Given the description of an element on the screen output the (x, y) to click on. 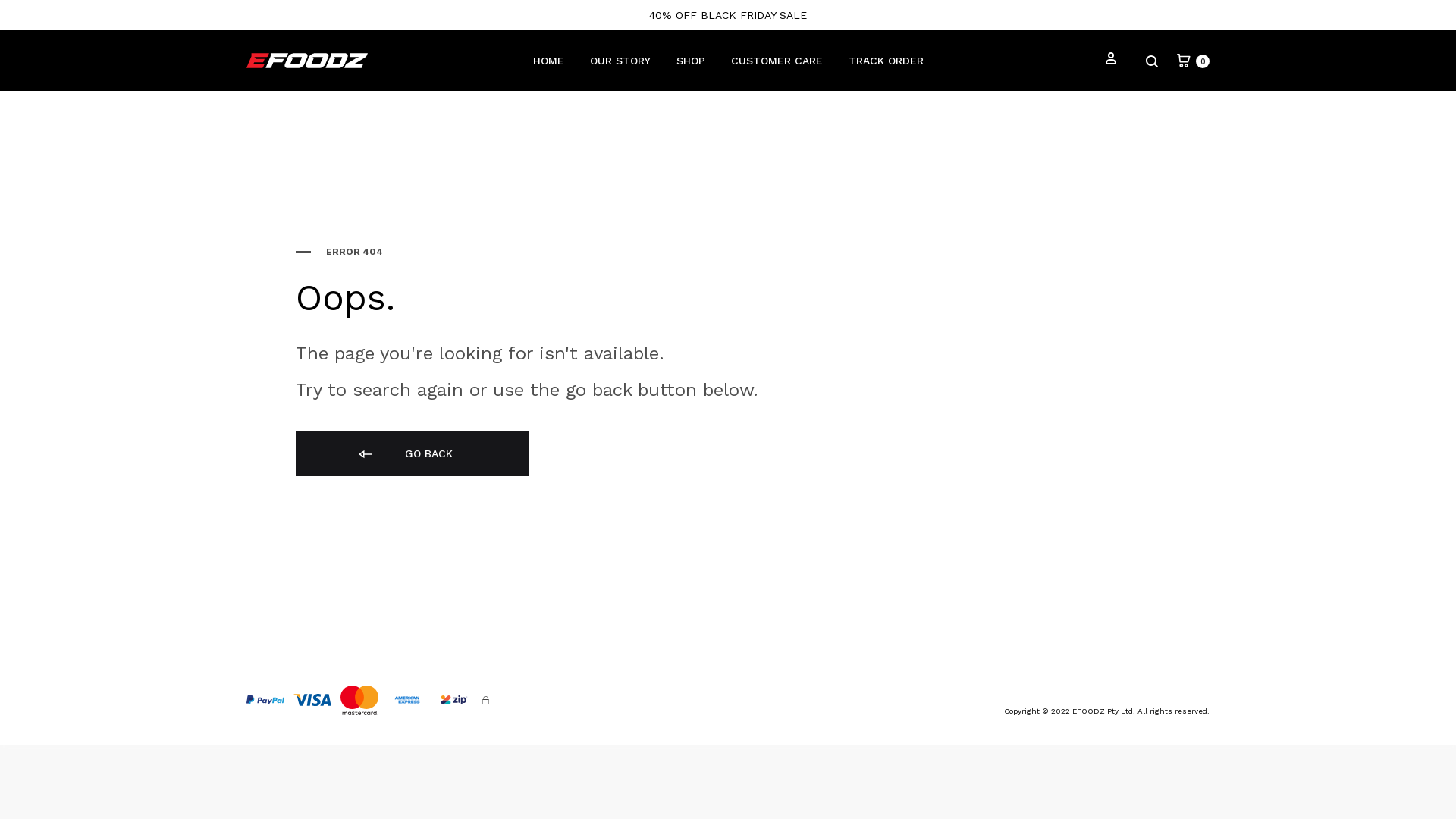
TRACK ORDER Element type: text (884, 60)
OUR STORY Element type: text (619, 60)
SHOP Element type: text (690, 60)
CUSTOMER CARE Element type: text (776, 60)
GO BACK Element type: text (411, 453)
Sign in Element type: text (1110, 60)
HOME Element type: text (547, 60)
Cart
0 Element type: text (1191, 60)
